Given the description of an element on the screen output the (x, y) to click on. 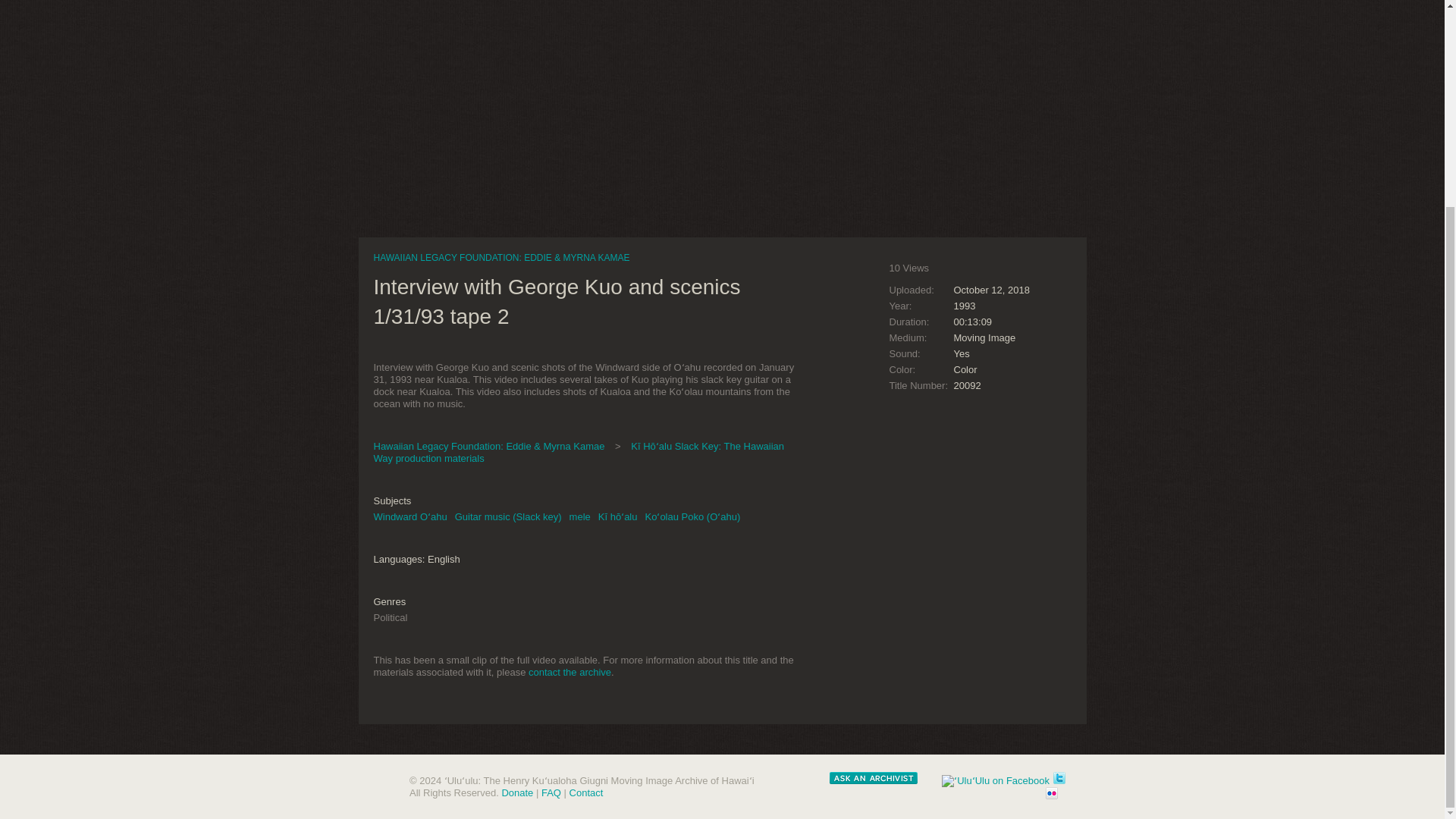
Donate (516, 792)
Contact (586, 792)
contact the archive (569, 672)
mele (580, 516)
FAQ (550, 792)
